Given the description of an element on the screen output the (x, y) to click on. 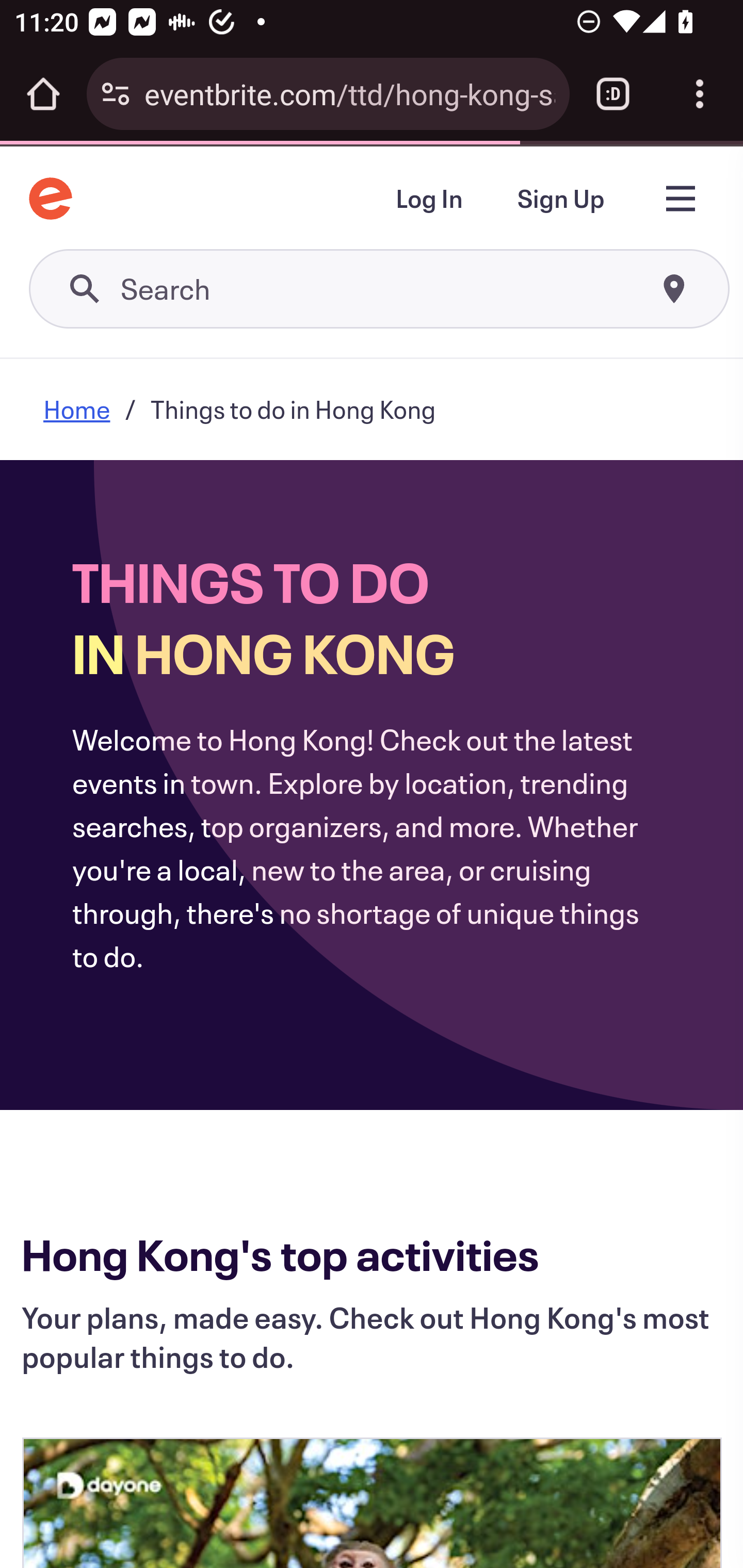
Open the home page (43, 93)
Connection is secure (115, 93)
Switch or close tabs (612, 93)
Customize and control Google Chrome (699, 93)
eventbrite.com/ttd/hong-kong-sar/ (349, 92)
Log In (428, 199)
Sign Up (560, 199)
Home Eventbrite (50, 198)
Search (379, 289)
Home (77, 409)
